Given the description of an element on the screen output the (x, y) to click on. 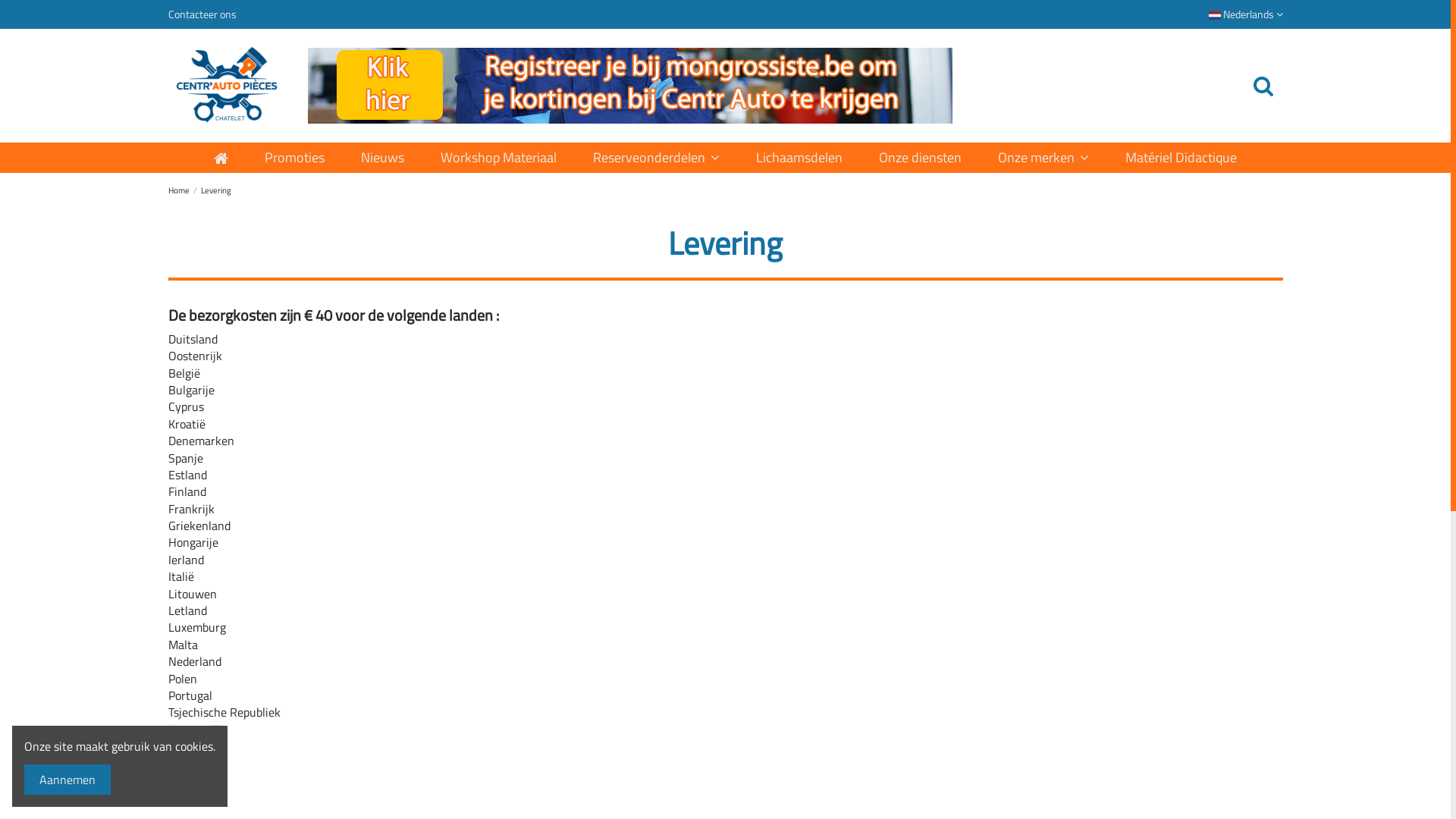
Veilige betaling Element type: text (211, 585)
Smeermiddelen Element type: text (895, 629)
Nieuws Element type: text (382, 157)
Onze diensten Element type: text (437, 607)
Filtratie Spares Element type: text (894, 607)
Onze merken Element type: text (1043, 157)
Aannemen Element type: text (67, 779)
Dynamo's / Starters Element type: text (906, 585)
Promoties Element type: text (294, 157)
Reserveonderdelen remmen Element type: text (700, 564)
Sondes en sensoren Element type: text (679, 673)
071 382 890 Element type: text (1130, 615)
Distributie reserveonderdelen Element type: text (704, 607)
Uitlaat reserveonderdelen Element type: text (694, 585)
Workshop Materiaal Element type: text (498, 157)
Lichaamsdelen Element type: text (798, 157)
Contacteer ons Element type: text (202, 13)
Banden Element type: text (874, 564)
Onze promoties Element type: text (440, 564)
Lichaamsdelen Element type: text (893, 651)
Gebruiksvoorwaarden Element type: text (229, 607)
Onze diensten Element type: text (919, 157)
Wettelijke Mededeling Element type: text (230, 629)
Reserveonderdelen Element type: text (655, 157)
Voorzieningen Element type: text (891, 673)
Nieuws Element type: text (419, 651)
Lichaamsdelen Element type: text (438, 629)
Levering Element type: text (215, 190)
Nederlands Element type: text (1245, 13)
Home Element type: text (179, 190)
Onze reserveonderdelen Element type: text (462, 585)
Transmissie Element type: text (658, 651)
Steering / Ophanging Element type: text (683, 629)
Levering Element type: text (195, 564)
